Given the description of an element on the screen output the (x, y) to click on. 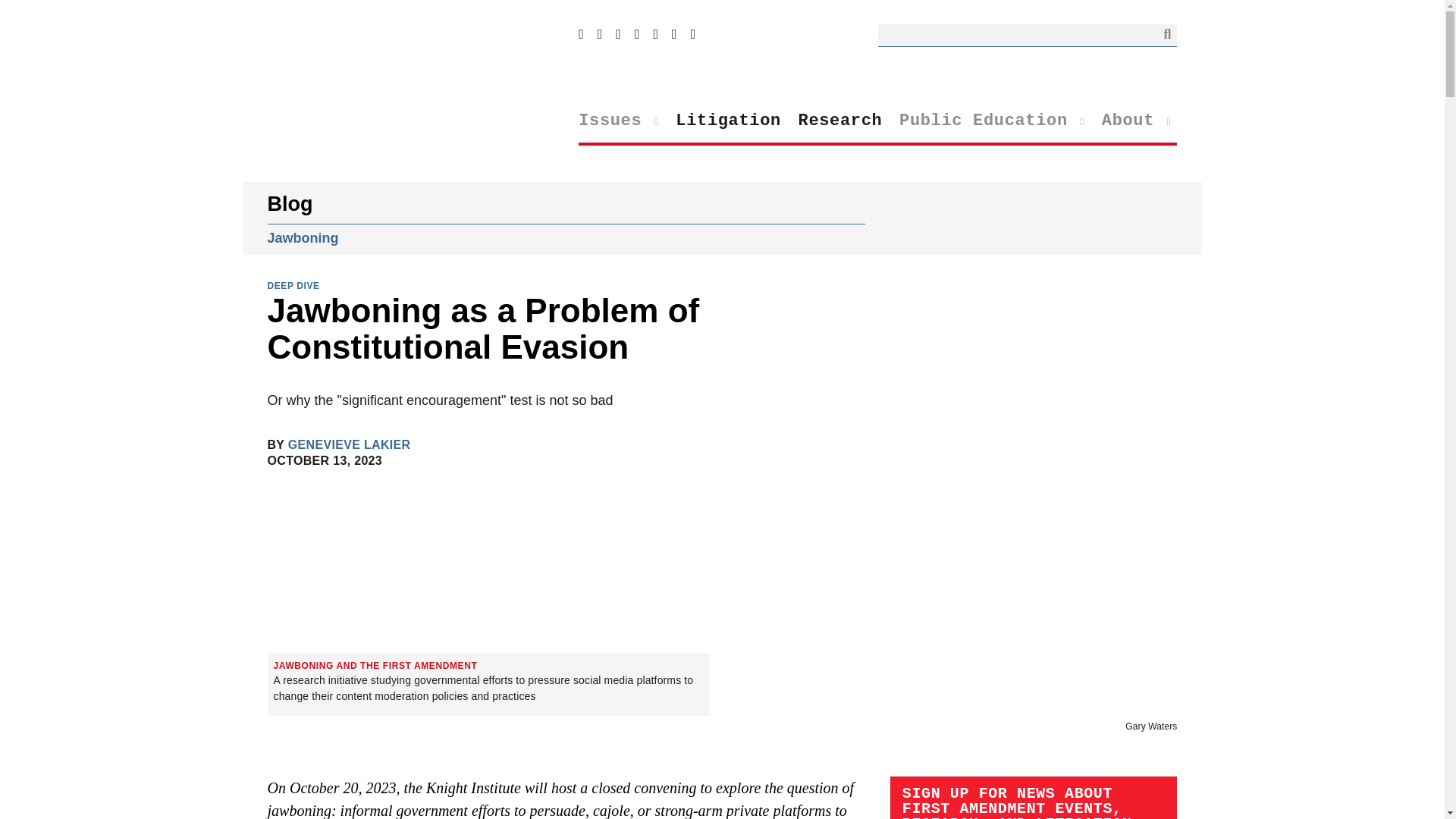
Public Education (991, 120)
GENEVIEVE LAKIER (349, 445)
Blog (289, 203)
Issues (618, 120)
DEEP DIVE (292, 285)
Jawboning (301, 237)
JAWBONING AND THE FIRST AMENDMENT (375, 664)
Research (839, 120)
About (1137, 120)
Litigation (727, 120)
